Given the description of an element on the screen output the (x, y) to click on. 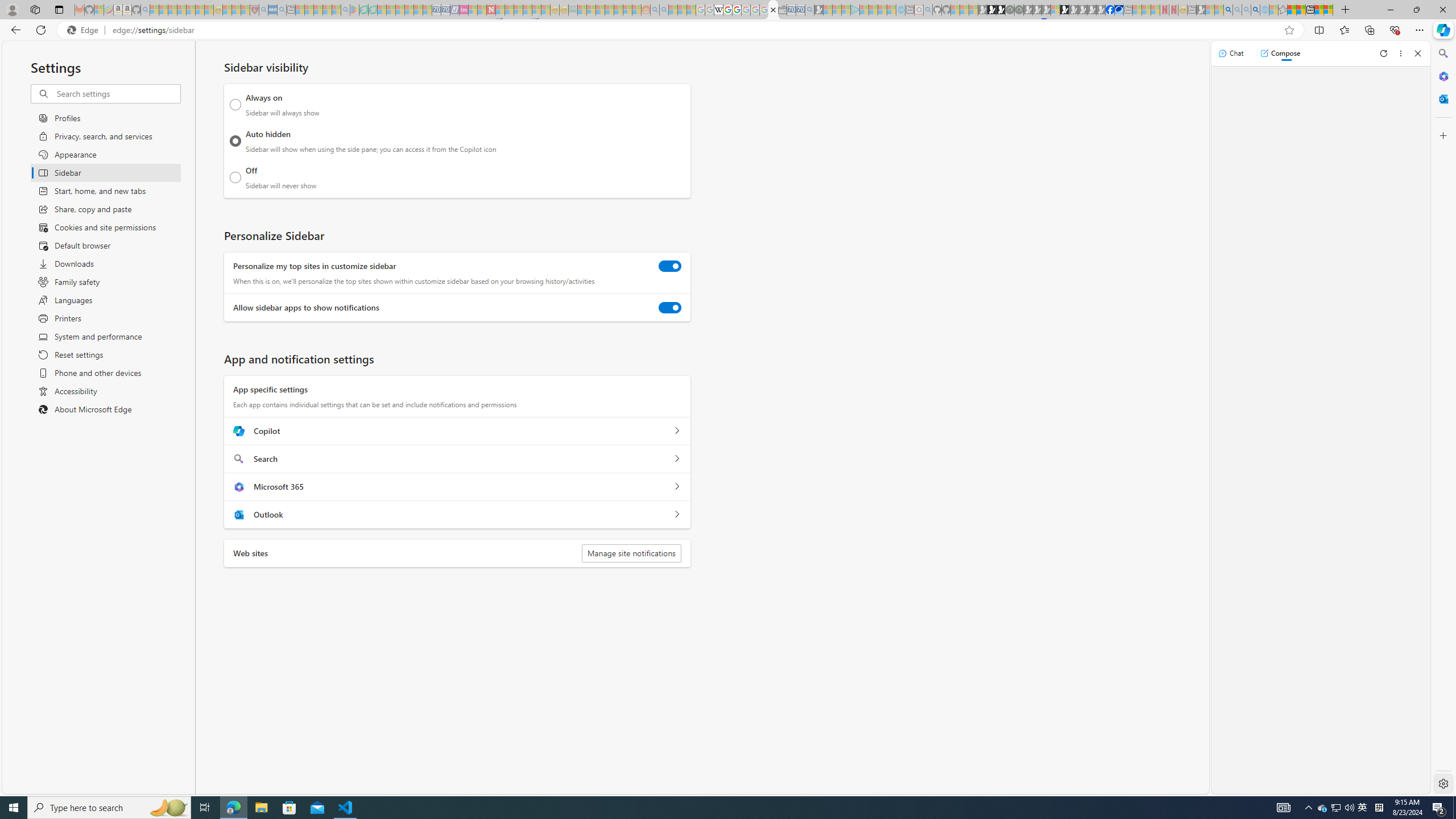
AQI & Health | AirNow.gov (1118, 9)
Personalize my top sites in customize sidebar (669, 265)
MSNBC - MSN - Sleeping (581, 9)
